Given the description of an element on the screen output the (x, y) to click on. 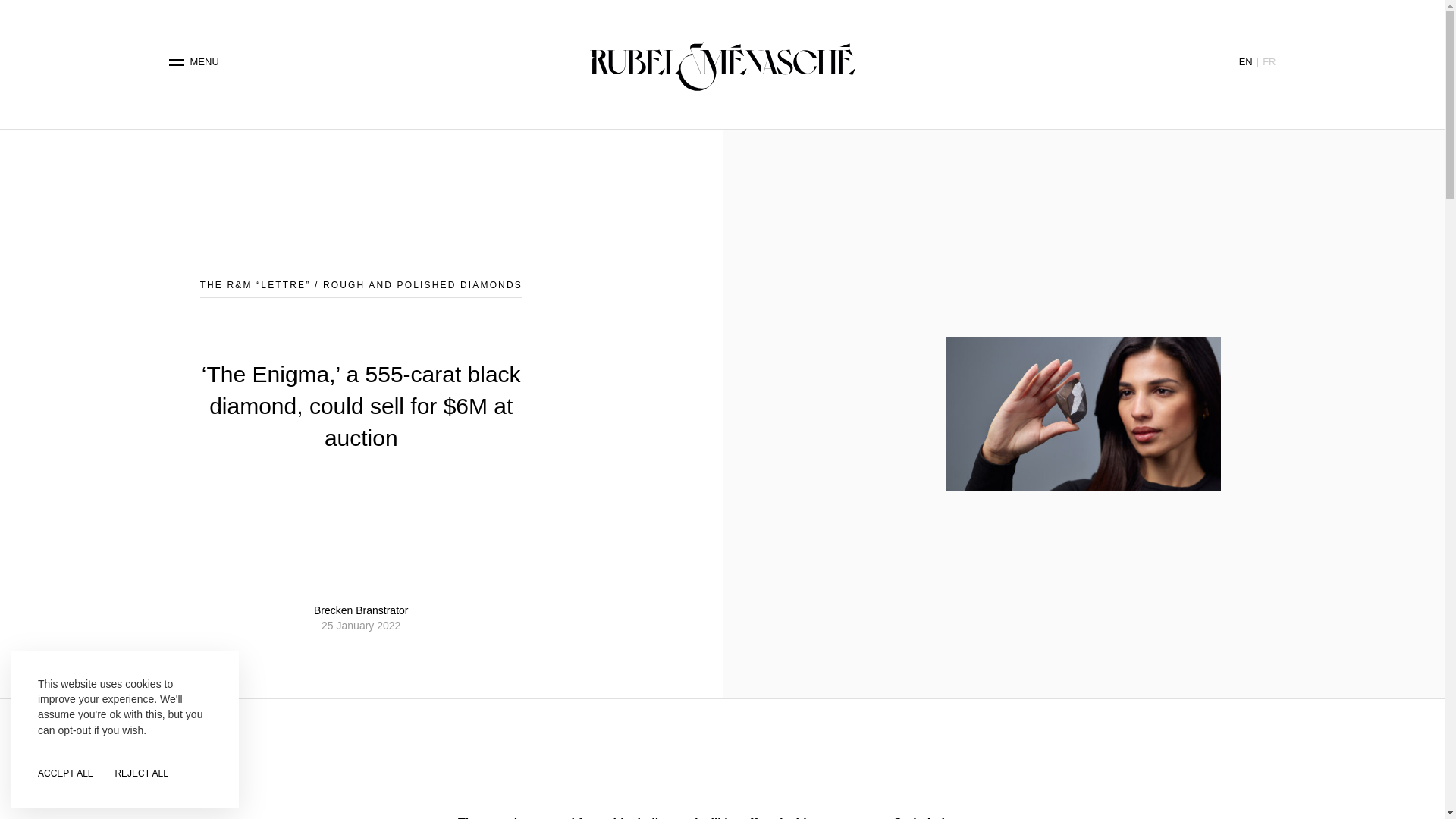
ACCEPT ALL (65, 773)
REJECT ALL (141, 773)
EN (1245, 61)
MENU (194, 61)
FR (1268, 61)
